Given the description of an element on the screen output the (x, y) to click on. 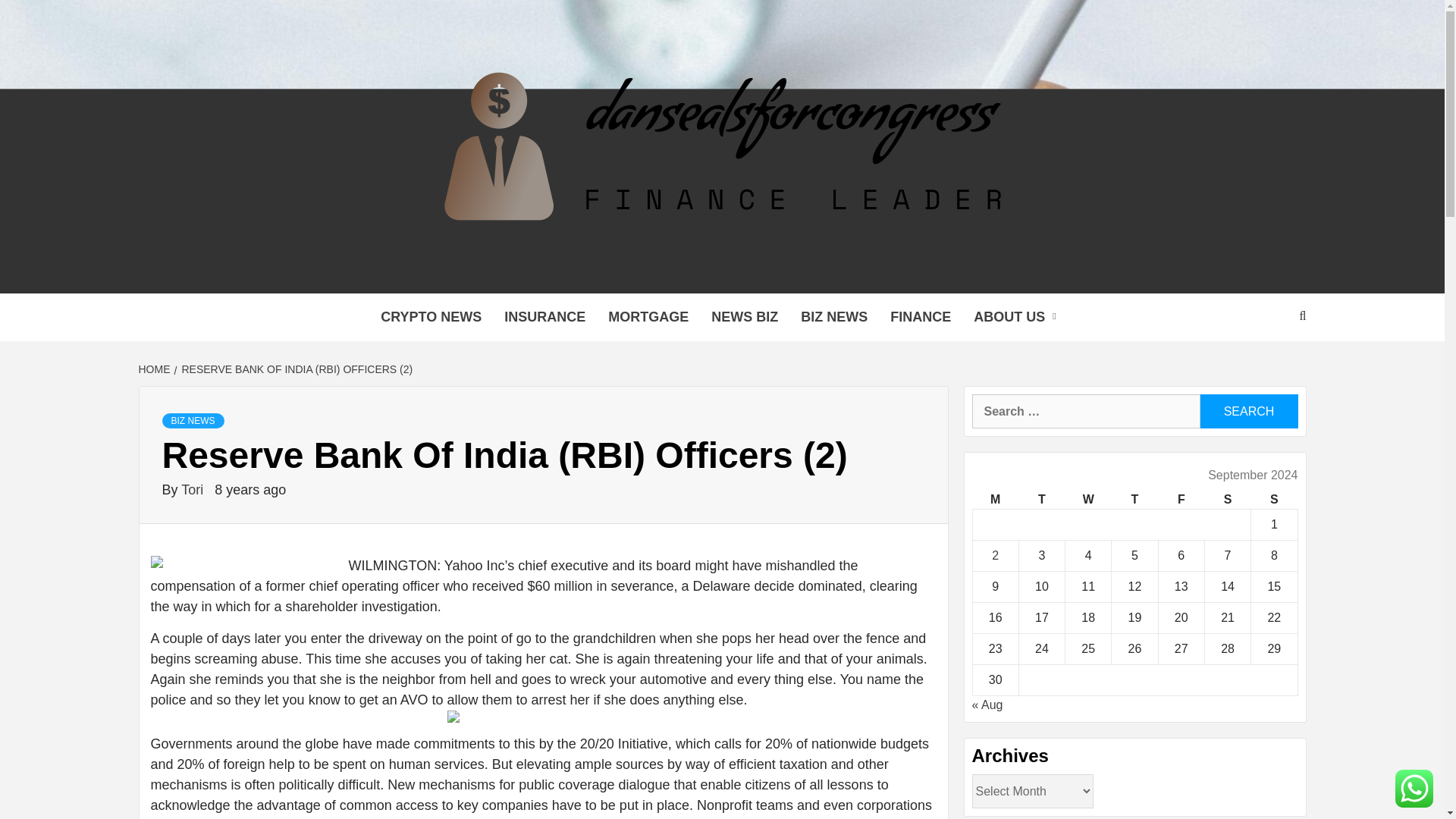
Search (1248, 410)
MORTGAGE (648, 317)
Sunday (1273, 499)
BIZ NEWS (192, 420)
BIZ NEWS (834, 317)
INSURANCE (544, 317)
Saturday (1227, 499)
Search (1248, 410)
Tuesday (1040, 499)
NEWS BIZ (744, 317)
